Given the description of an element on the screen output the (x, y) to click on. 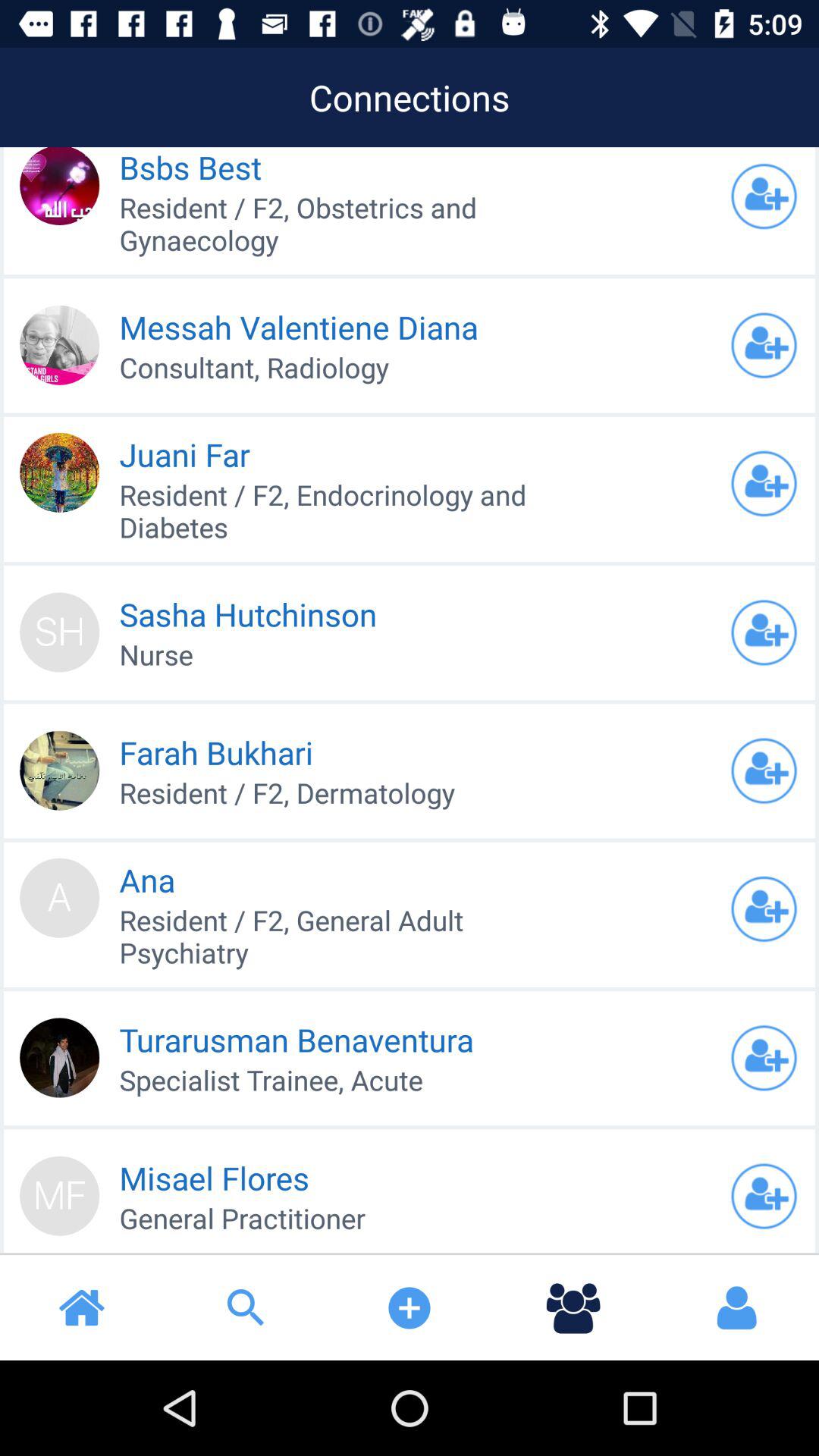
open profile (764, 1196)
